Given the description of an element on the screen output the (x, y) to click on. 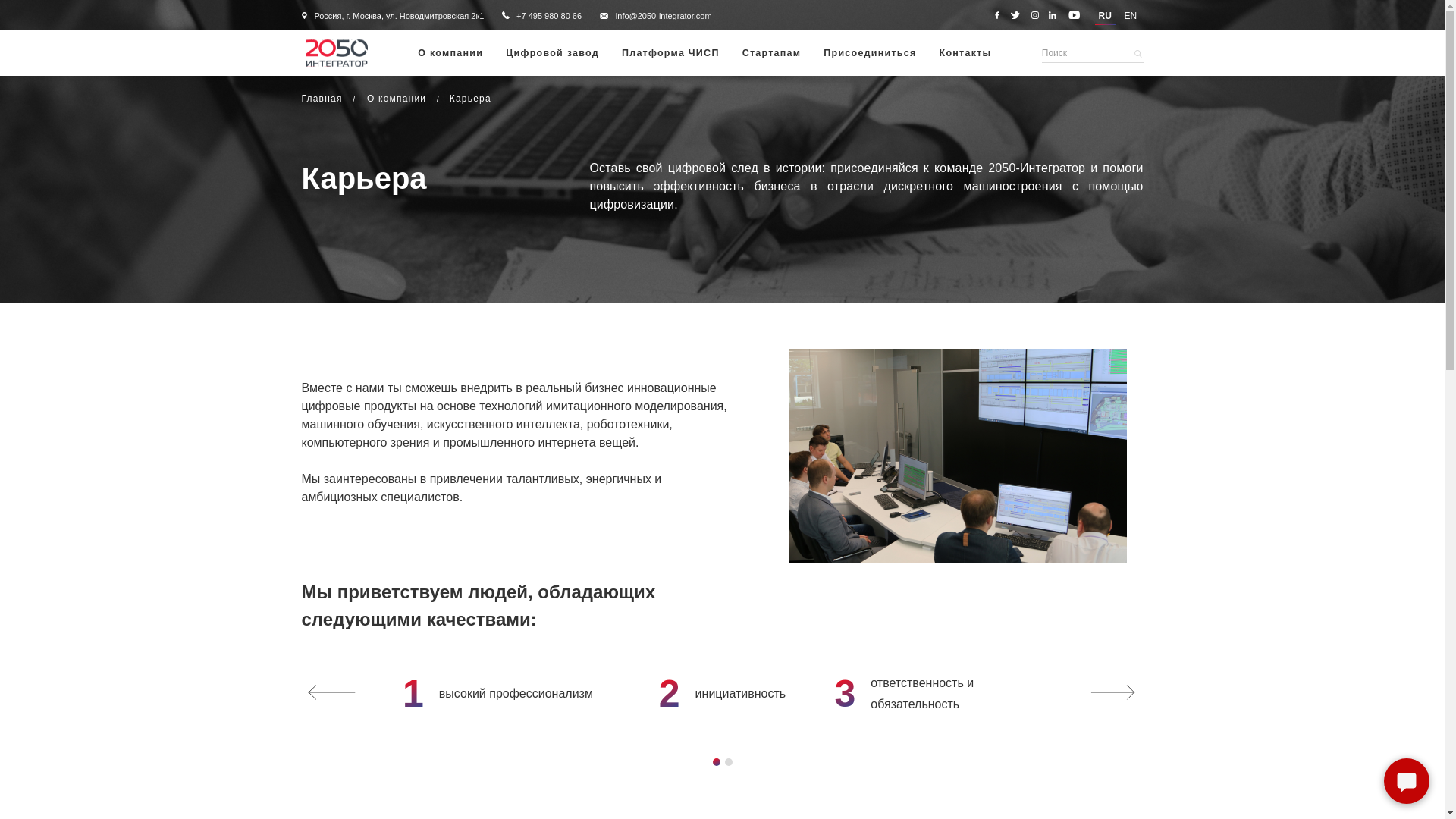
RU Element type: text (1106, 15)
EN Element type: text (1131, 15)
info@2050-integrator.com Element type: text (663, 15)
+7 495 980 80 66 Element type: text (549, 15)
